Given the description of an element on the screen output the (x, y) to click on. 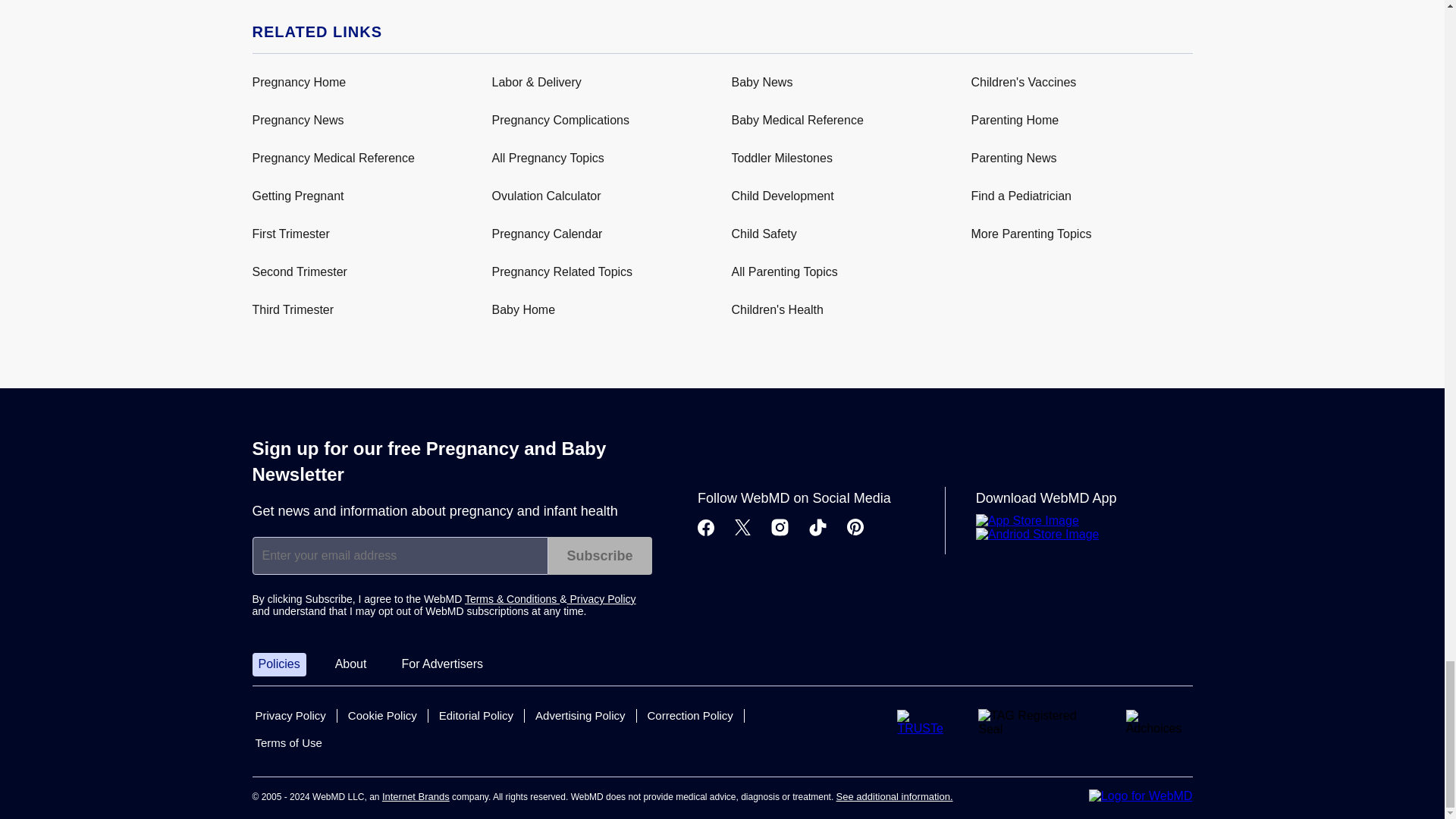
Adchoices (1158, 722)
WebMD: Better information. Better health. (1140, 796)
TAG Registered Seal (1039, 723)
TRUSTe Privacy Certification (924, 722)
